Given the description of an element on the screen output the (x, y) to click on. 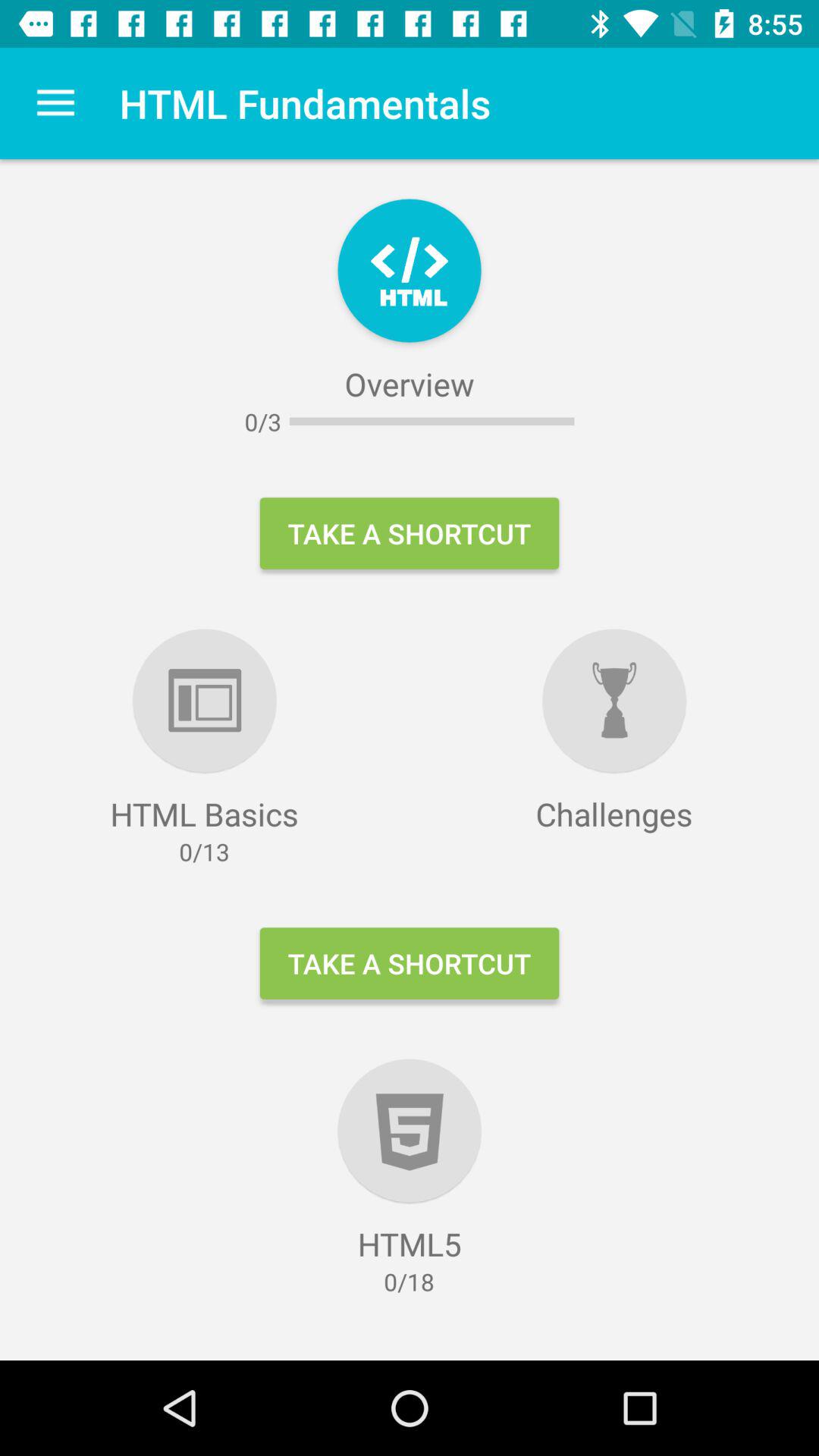
click icon above the html basics icon (55, 103)
